Given the description of an element on the screen output the (x, y) to click on. 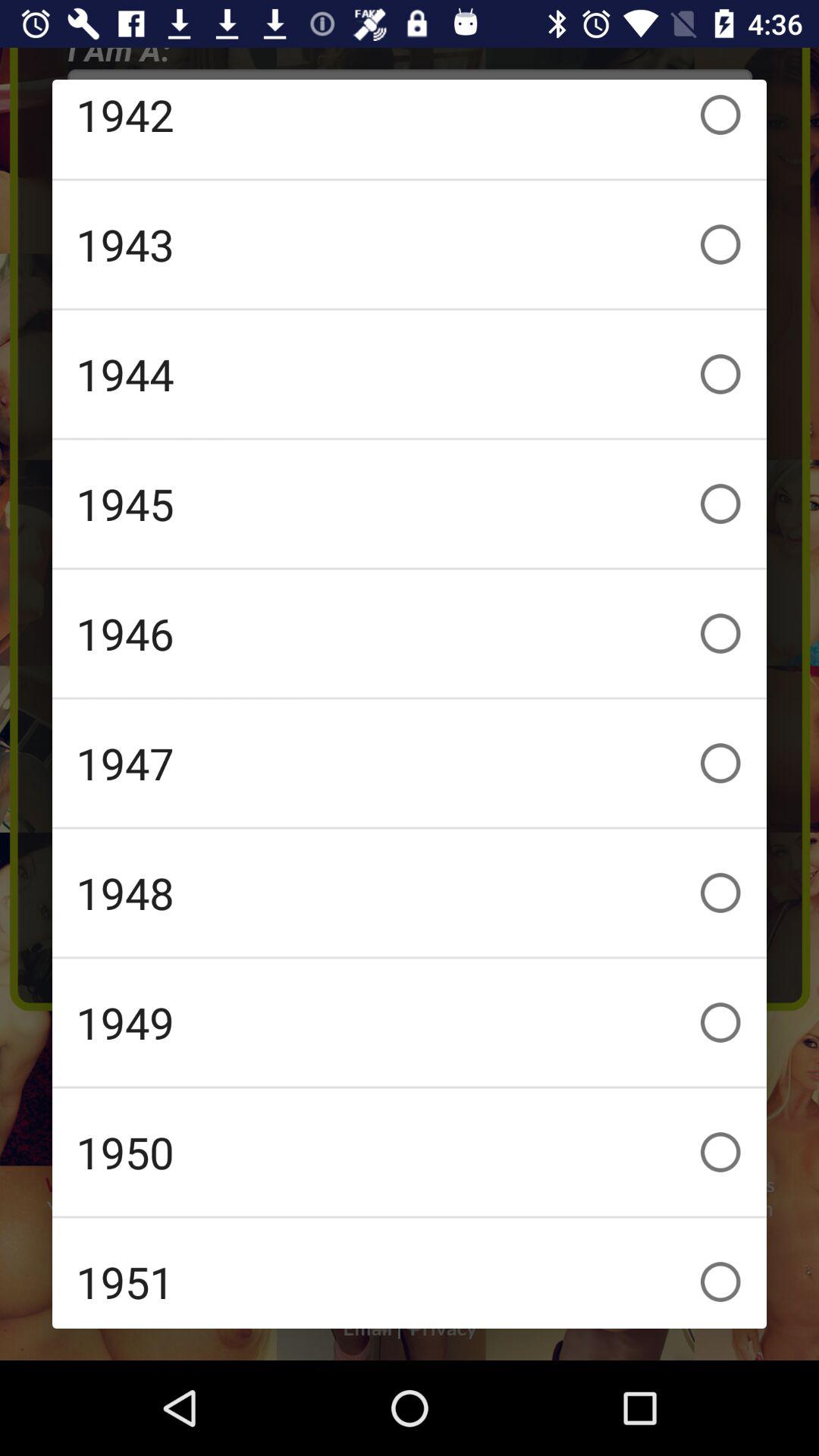
select the 1950 icon (409, 1151)
